Given the description of an element on the screen output the (x, y) to click on. 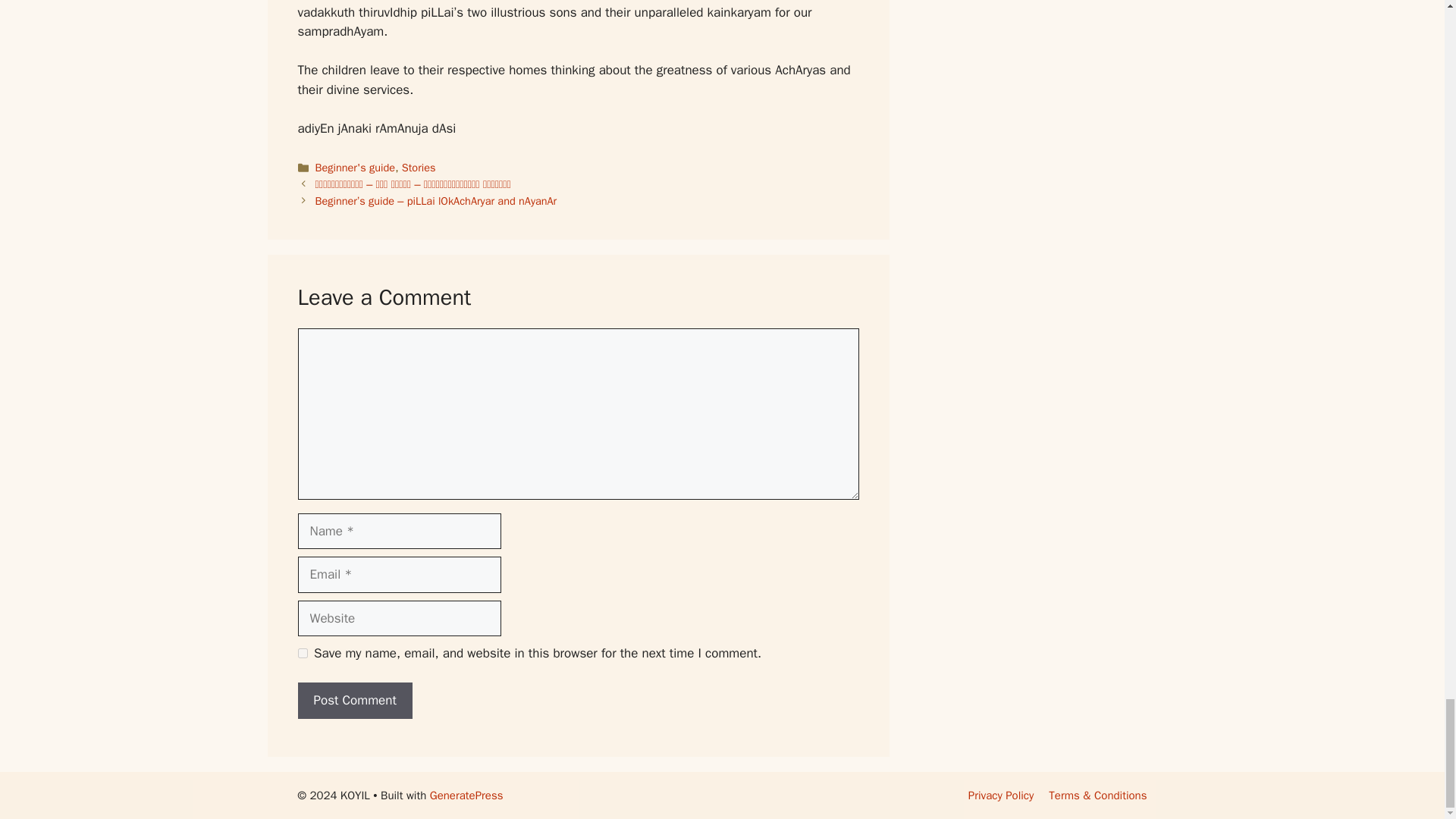
yes (302, 653)
Post Comment (354, 700)
